Given the description of an element on the screen output the (x, y) to click on. 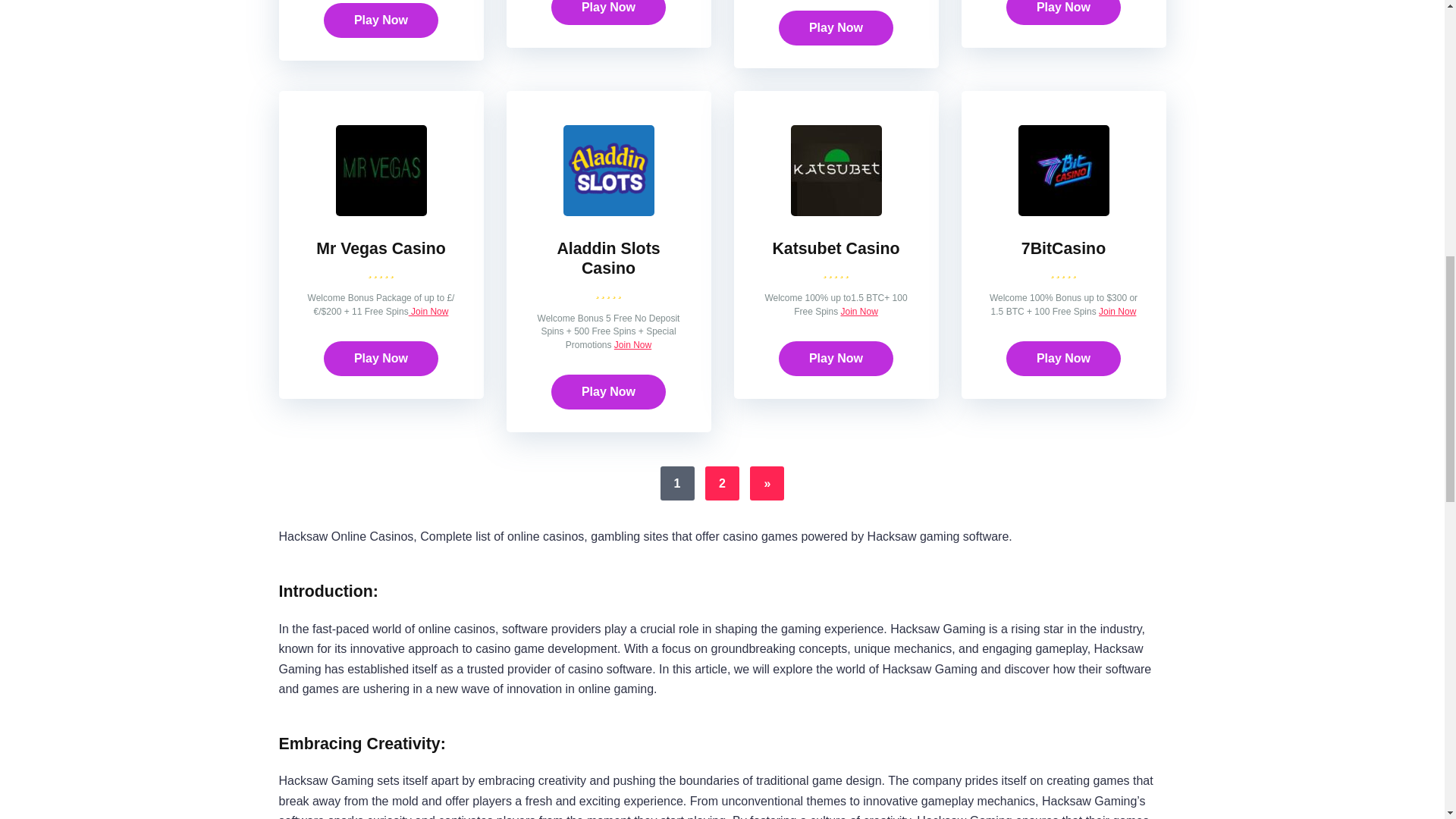
Play Now (380, 20)
Play Now (380, 20)
Play Now (608, 12)
Play Now (608, 12)
